Given the description of an element on the screen output the (x, y) to click on. 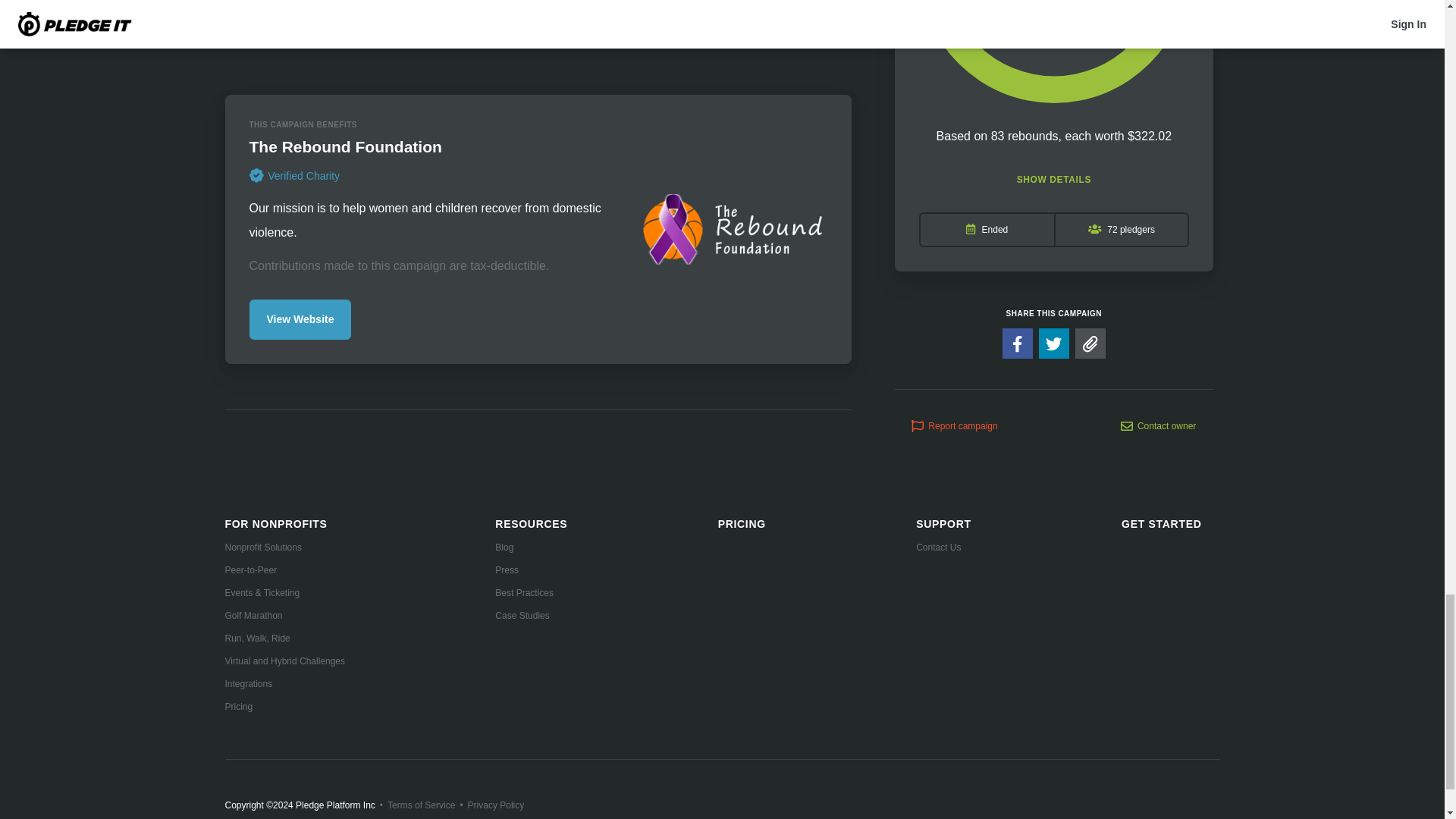
Nonprofit Solutions (284, 547)
Case Studies (531, 615)
Blog (531, 547)
Run, Walk, Ride (284, 638)
PRICING (741, 523)
SUPPORT (943, 524)
Peer-to-Peer (284, 570)
Integrations (284, 684)
